Given the description of an element on the screen output the (x, y) to click on. 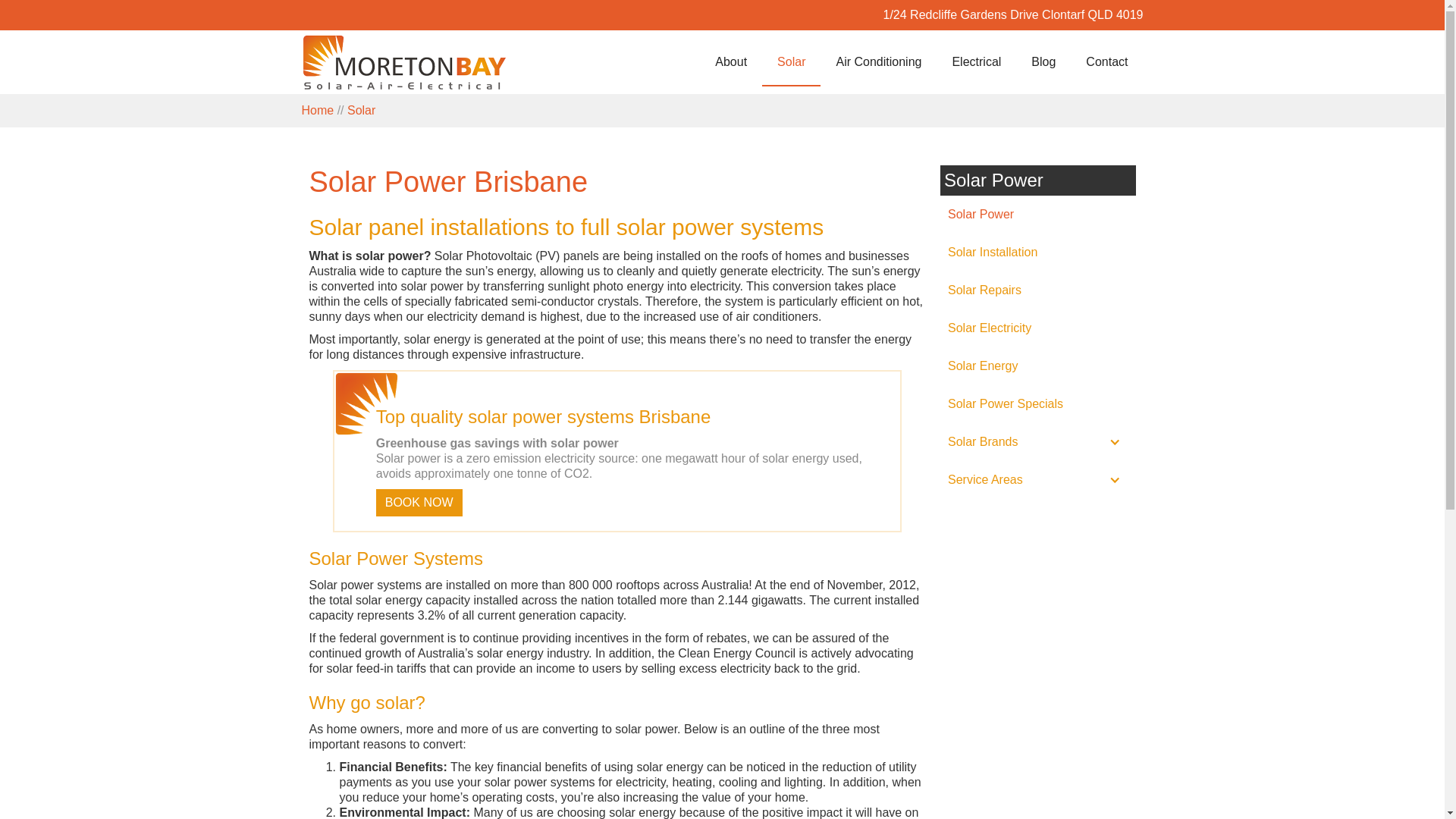
Solar Power Element type: text (1037, 214)
Solar Energy Element type: text (1037, 366)
Solar Element type: text (791, 61)
Home Element type: text (317, 109)
Air Conditioning Element type: text (878, 61)
About Element type: text (730, 61)
Solar Electricity Element type: text (1037, 328)
Solar Element type: text (361, 109)
Blog Element type: text (1043, 61)
Solar Power Specials Element type: text (1037, 404)
Solar Repairs Element type: text (1037, 290)
Contact Element type: text (1106, 61)
Solar Installation Element type: text (1037, 252)
Electrical Element type: text (976, 61)
BOOK NOW Element type: text (419, 502)
